Given the description of an element on the screen output the (x, y) to click on. 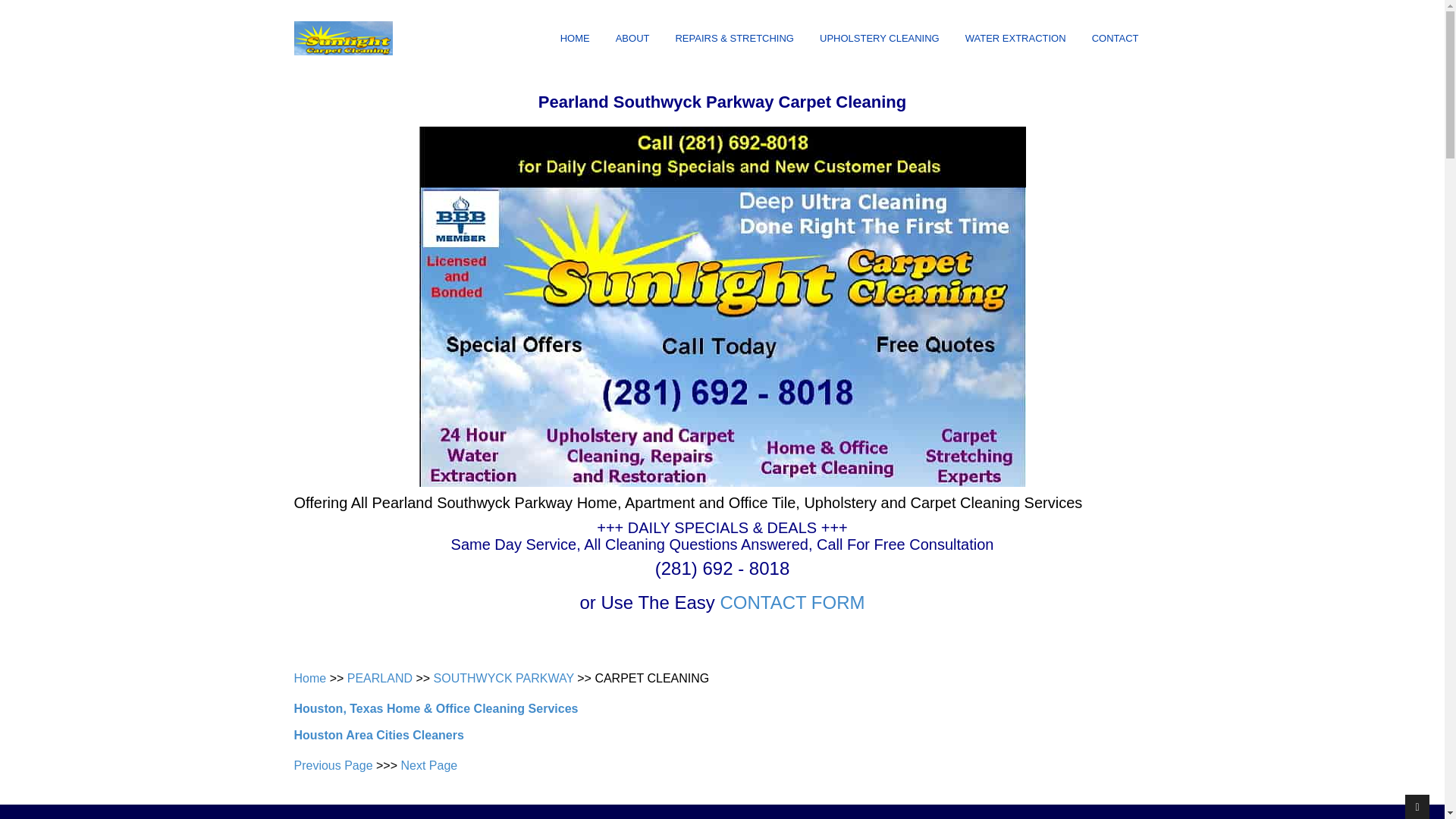
HOME (575, 38)
ABOUT (633, 38)
Previous Page (333, 765)
Home (310, 677)
Next Page (428, 765)
SOUTHWYCK PARKWAY (503, 677)
UPHOLSTERY CLEANING (880, 38)
WATER EXTRACTION (1015, 38)
Houston Area Cities Cleaners (379, 735)
CONTACT (1115, 38)
PEARLAND (379, 677)
CONTACT FORM (791, 602)
